Given the description of an element on the screen output the (x, y) to click on. 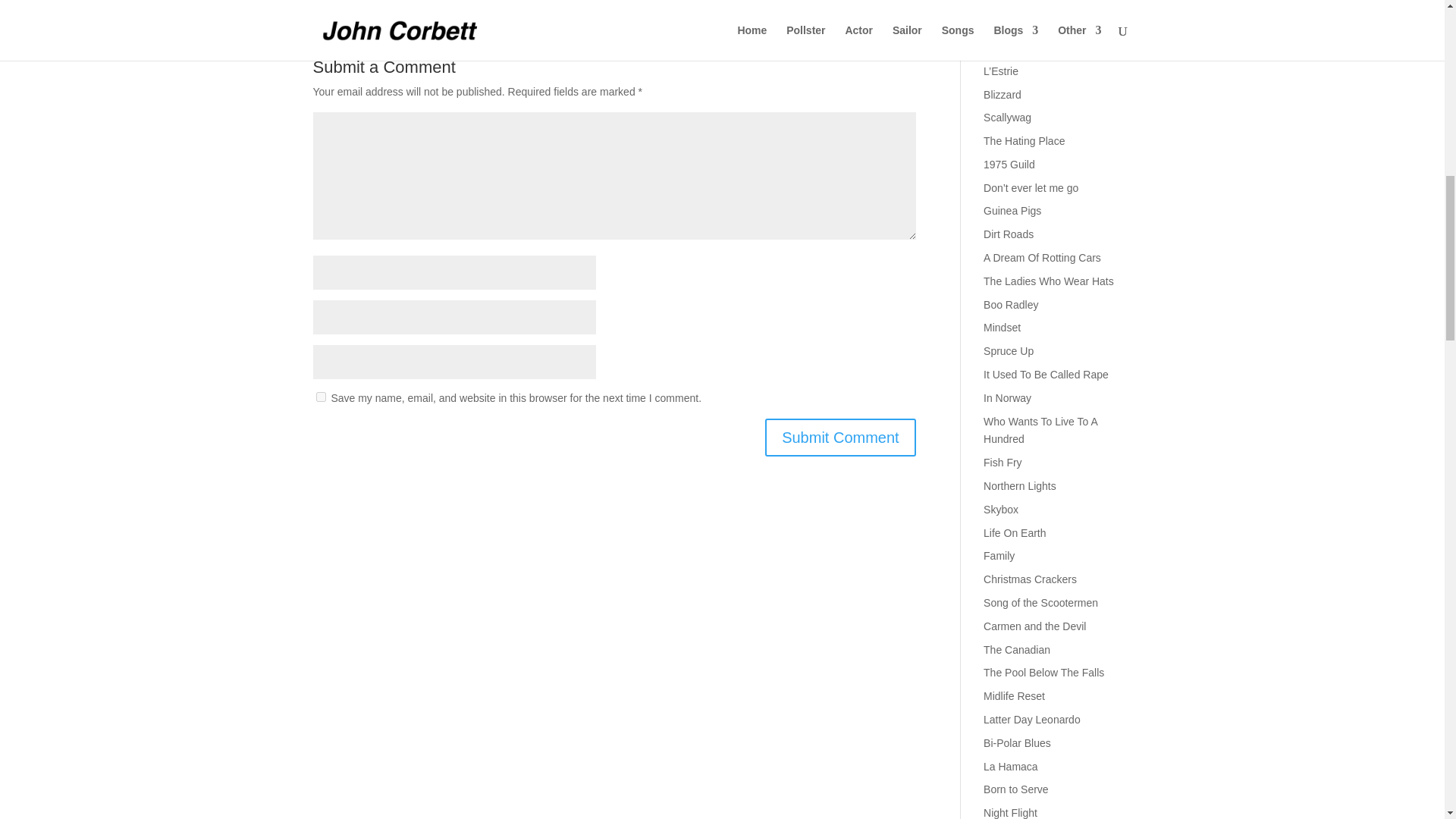
Submit Comment (840, 437)
Submit Comment (840, 437)
yes (319, 397)
